Given the description of an element on the screen output the (x, y) to click on. 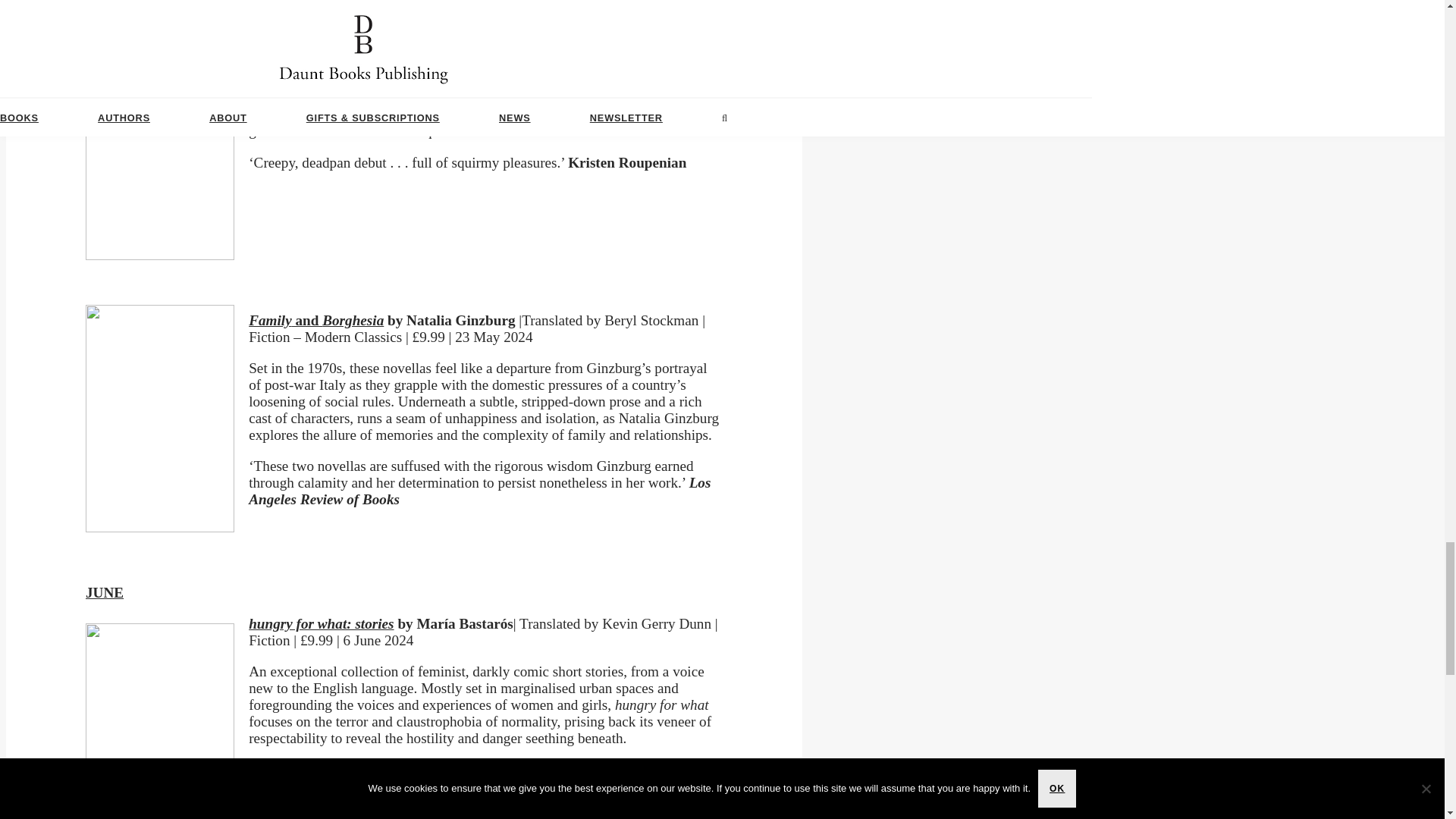
Belly Up: Stories (300, 32)
Family and Borghesia (316, 320)
hungry for what: stories (320, 623)
